Given the description of an element on the screen output the (x, y) to click on. 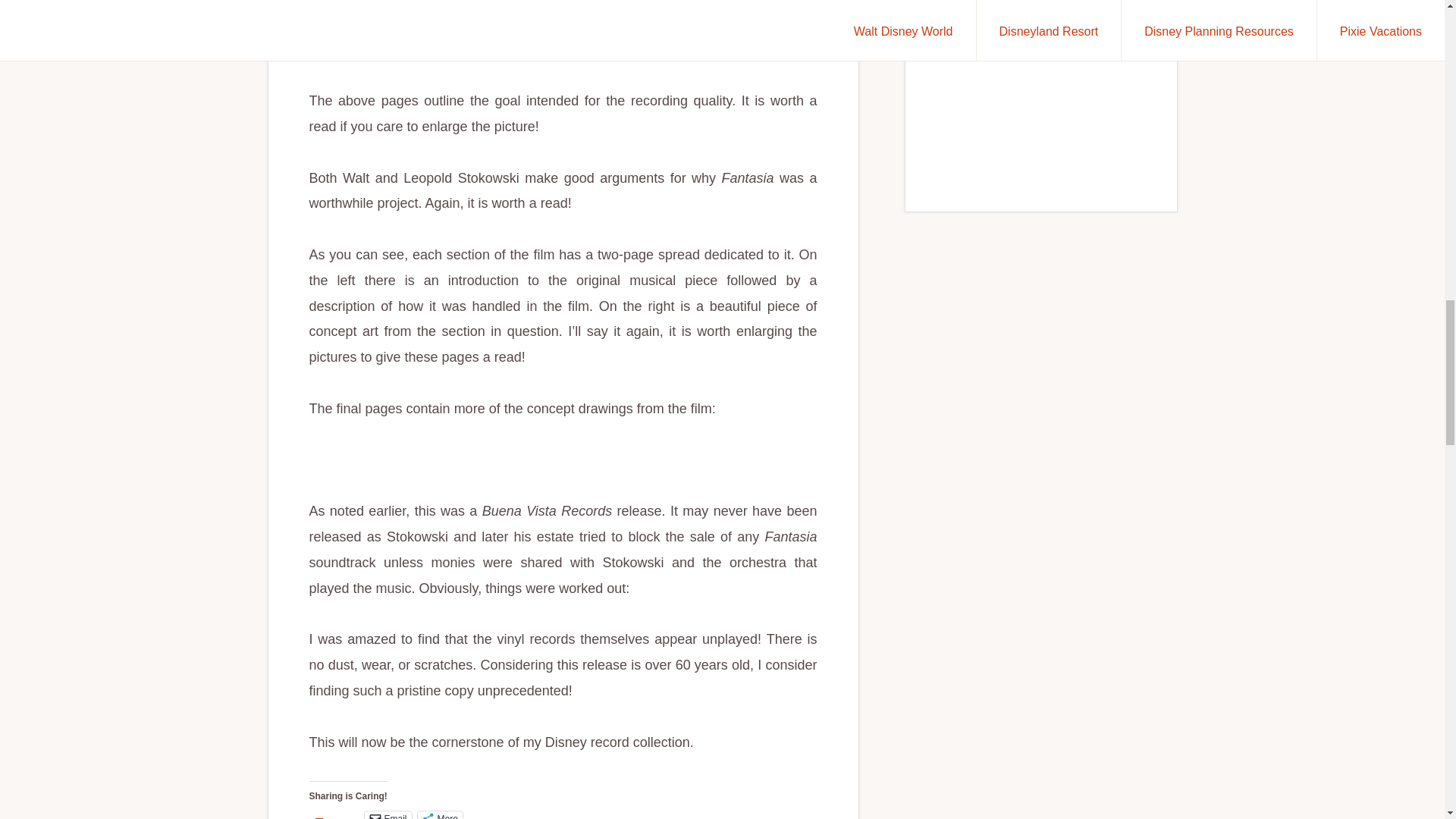
Click to email a link to a friend (388, 815)
